Given the description of an element on the screen output the (x, y) to click on. 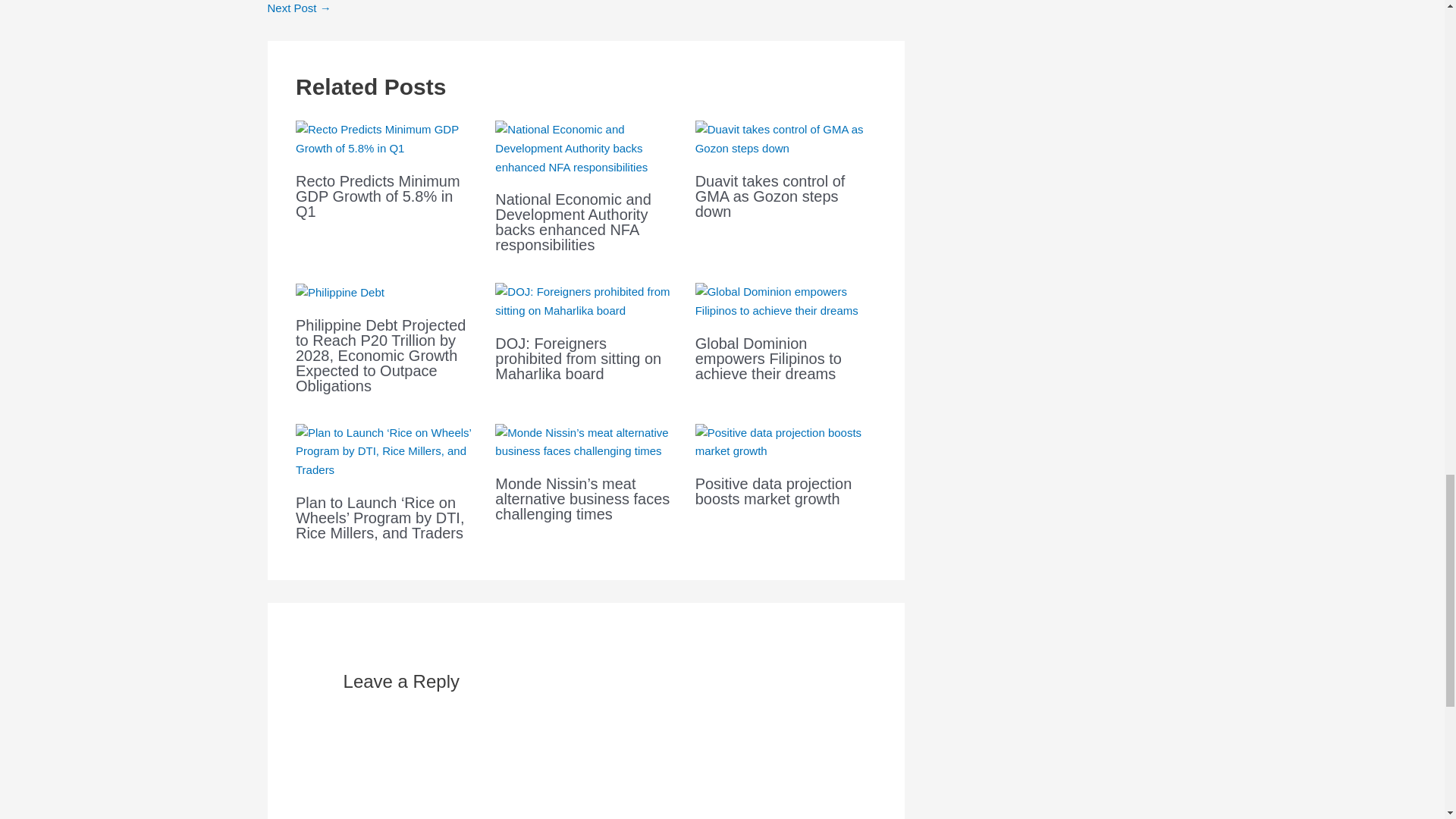
DOJ: Foreigners prohibited from sitting on Maharlika board (578, 358)
Comment Form (585, 766)
Duavit takes control of GMA as Gozon steps down (770, 196)
